Given the description of an element on the screen output the (x, y) to click on. 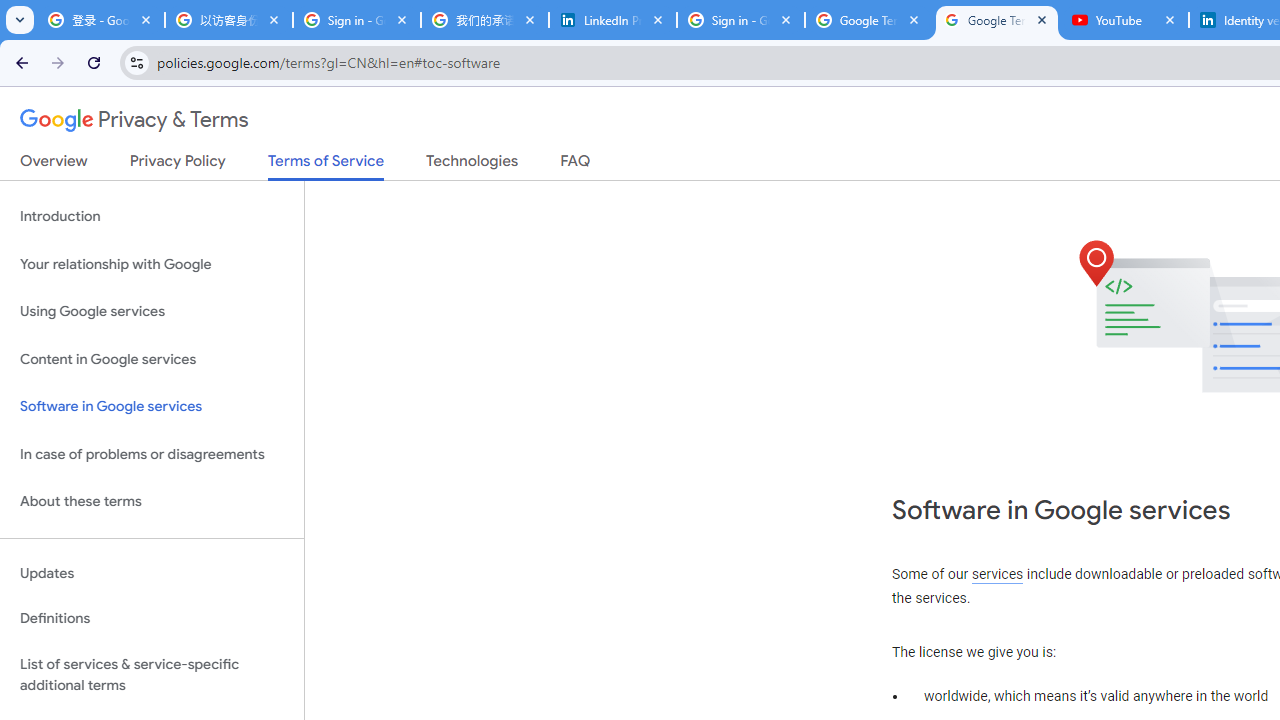
YouTube (1125, 20)
